Given the description of an element on the screen output the (x, y) to click on. 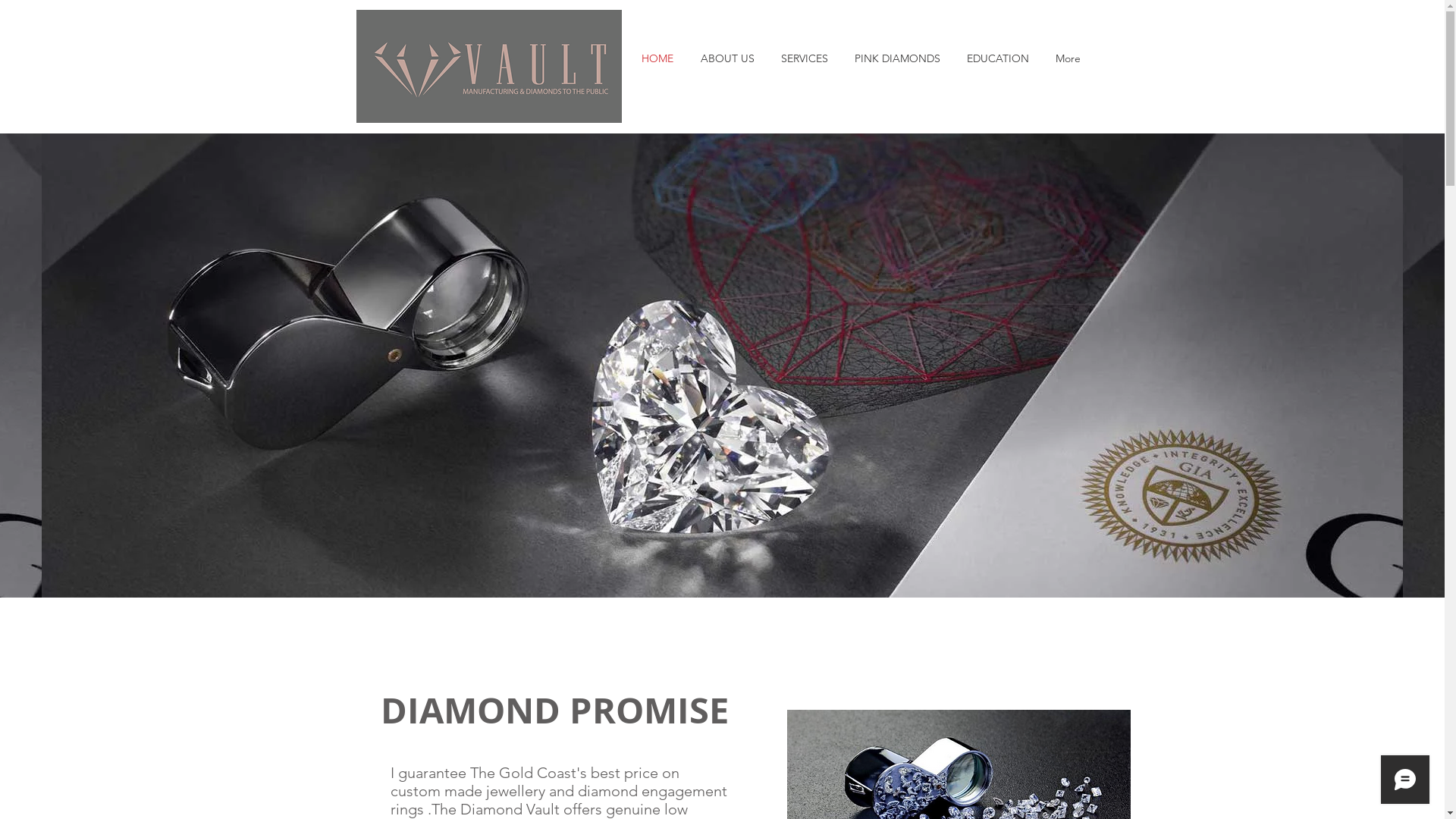
ABOUT US Element type: text (727, 58)
HOME Element type: text (657, 58)
EDUCATION Element type: text (997, 58)
PINK DIAMONDS Element type: text (897, 58)
SERVICES Element type: text (803, 58)
Screen Shot 2022-05-10 at 11.22.25 am.pn Element type: hover (488, 65)
